Given the description of an element on the screen output the (x, y) to click on. 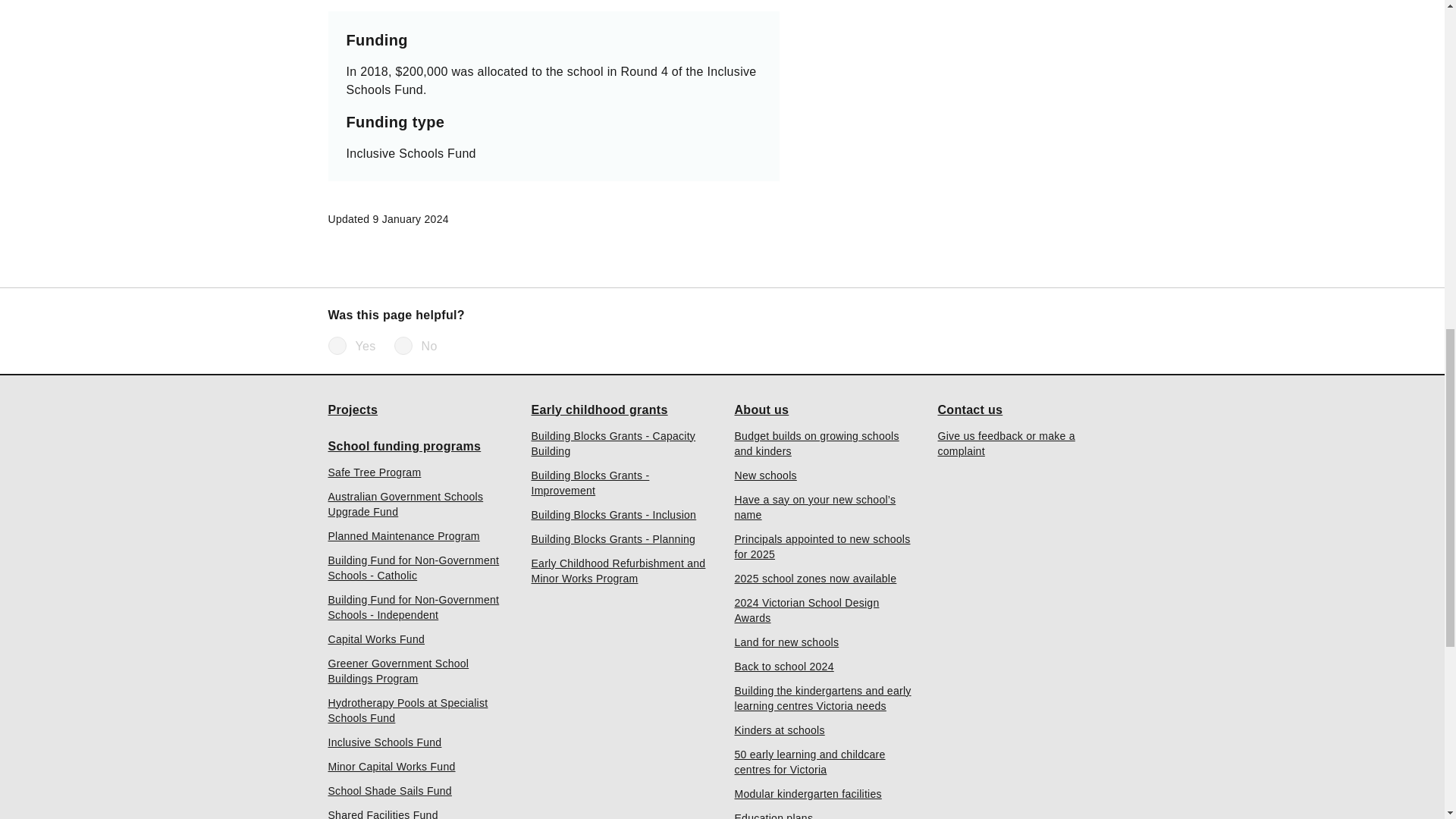
Early childhood grants (598, 409)
Budget builds on growing schools and kinders (822, 442)
Inclusive Schools Fund (384, 741)
Building Blocks Grants - Improvement (620, 481)
Building Fund for Non-Government Schools - Independent (416, 606)
School Shade Sails Fund (389, 789)
Building Blocks Grants - Planning (613, 538)
Projects (352, 409)
New schools (764, 474)
Building Fund for Non-Government Schools - Catholic (416, 567)
Shared Facilities Fund (382, 812)
Early Childhood Refurbishment and Minor Works Program (620, 570)
Building Blocks Grants - Inclusion (613, 513)
School funding programs (403, 445)
Building Blocks Grants - Capacity Building (620, 442)
